Given the description of an element on the screen output the (x, y) to click on. 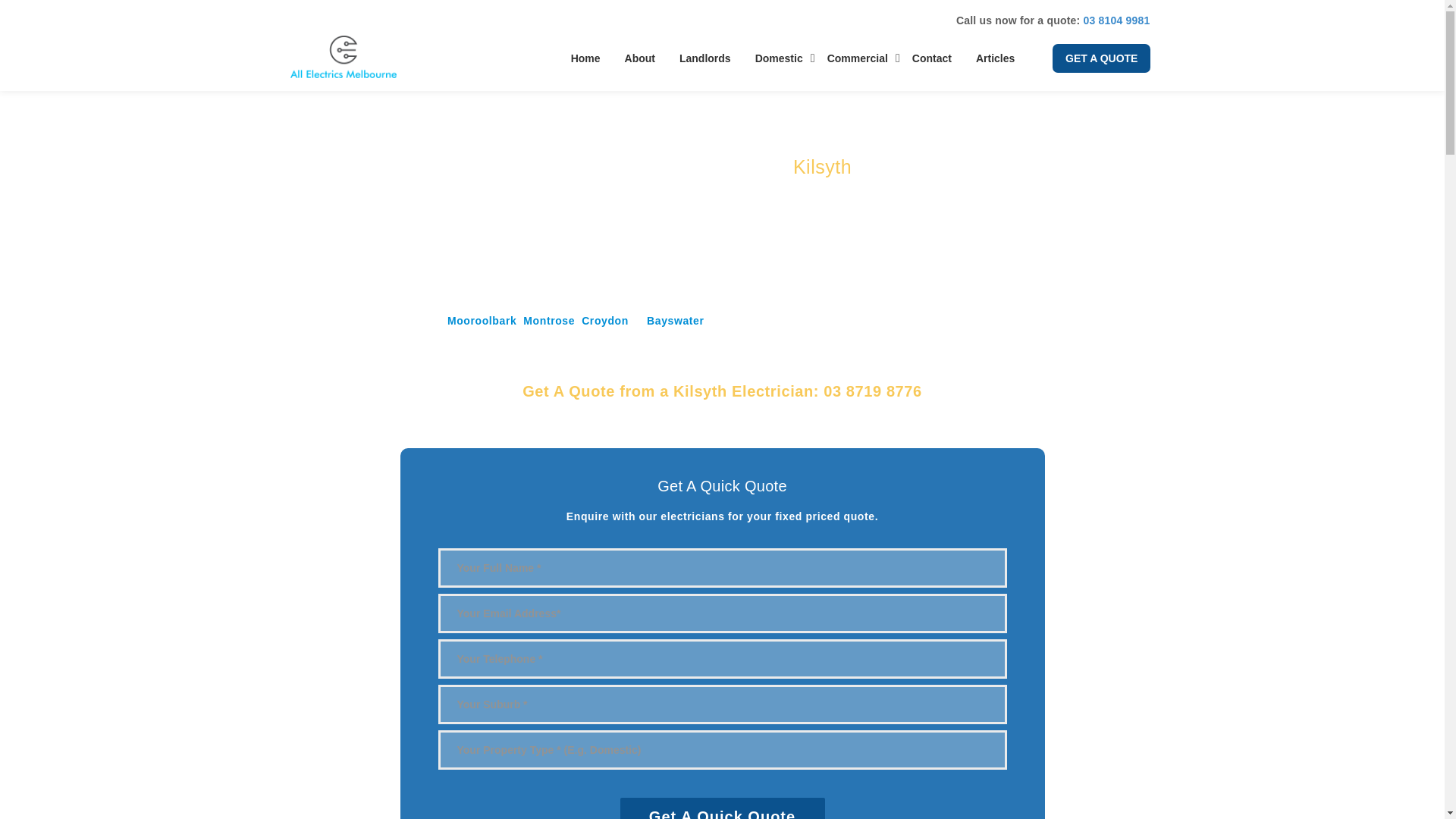
All Electrics Melbourne Electricians (342, 56)
All Electrics Melbourne Electricians (342, 62)
03 8104 9981 (1116, 20)
About (639, 58)
Mooroolbark (481, 320)
Contact (932, 58)
Landlords (704, 58)
Commercial (857, 58)
GET A QUOTE (1100, 57)
Domestic (779, 58)
Get A Quick Quote (722, 808)
Articles (994, 58)
Montrose (548, 320)
Home (584, 58)
